Given the description of an element on the screen output the (x, y) to click on. 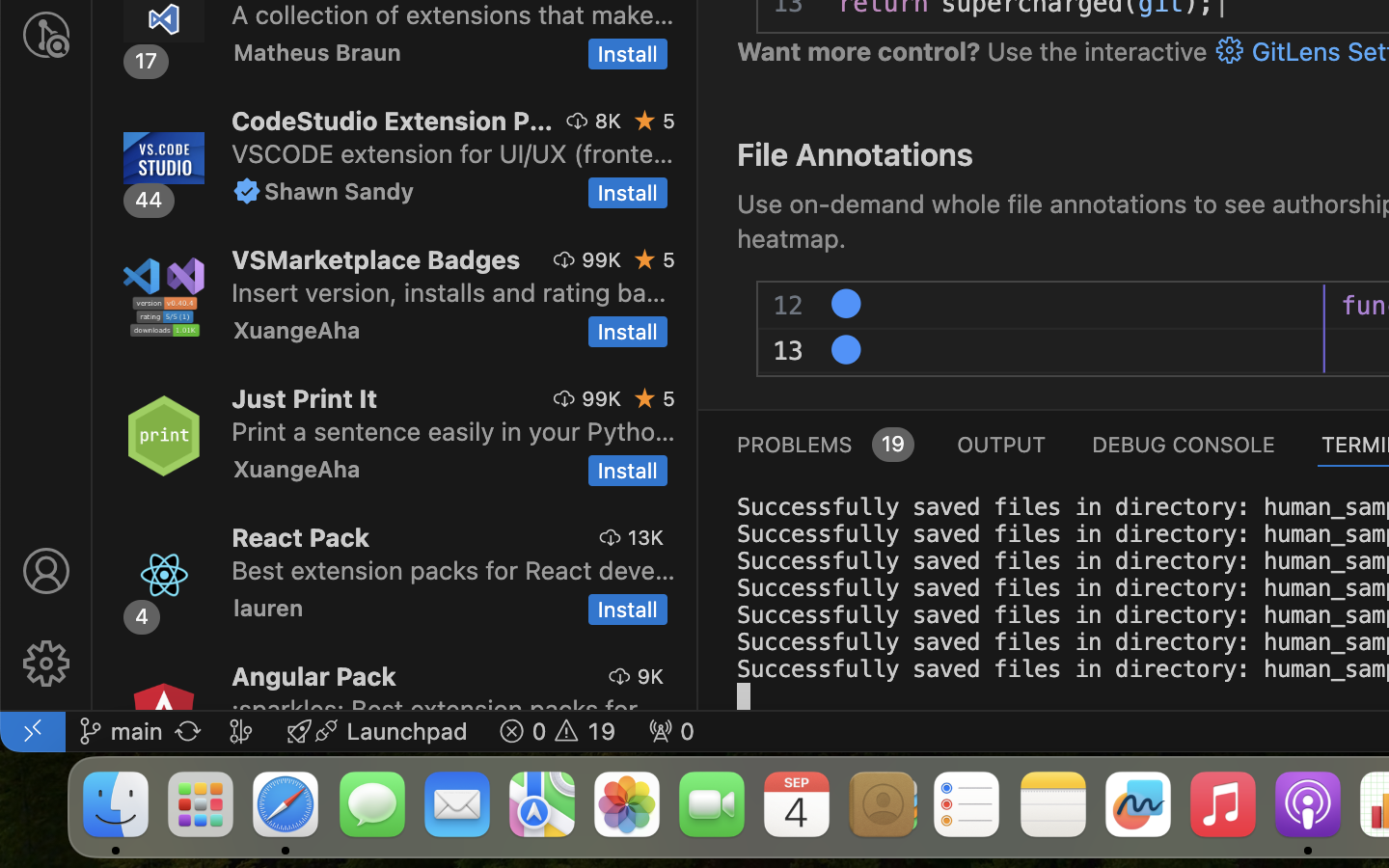
6 yrs ago Element type: AXStaticText (1239, 305)
9K Element type: AXStaticText (649, 675)
8K Element type: AXStaticText (607, 120)
XuangeAha Element type: AXStaticText (296, 329)
lauren Element type: AXStaticText (268, 607)
